Given the description of an element on the screen output the (x, y) to click on. 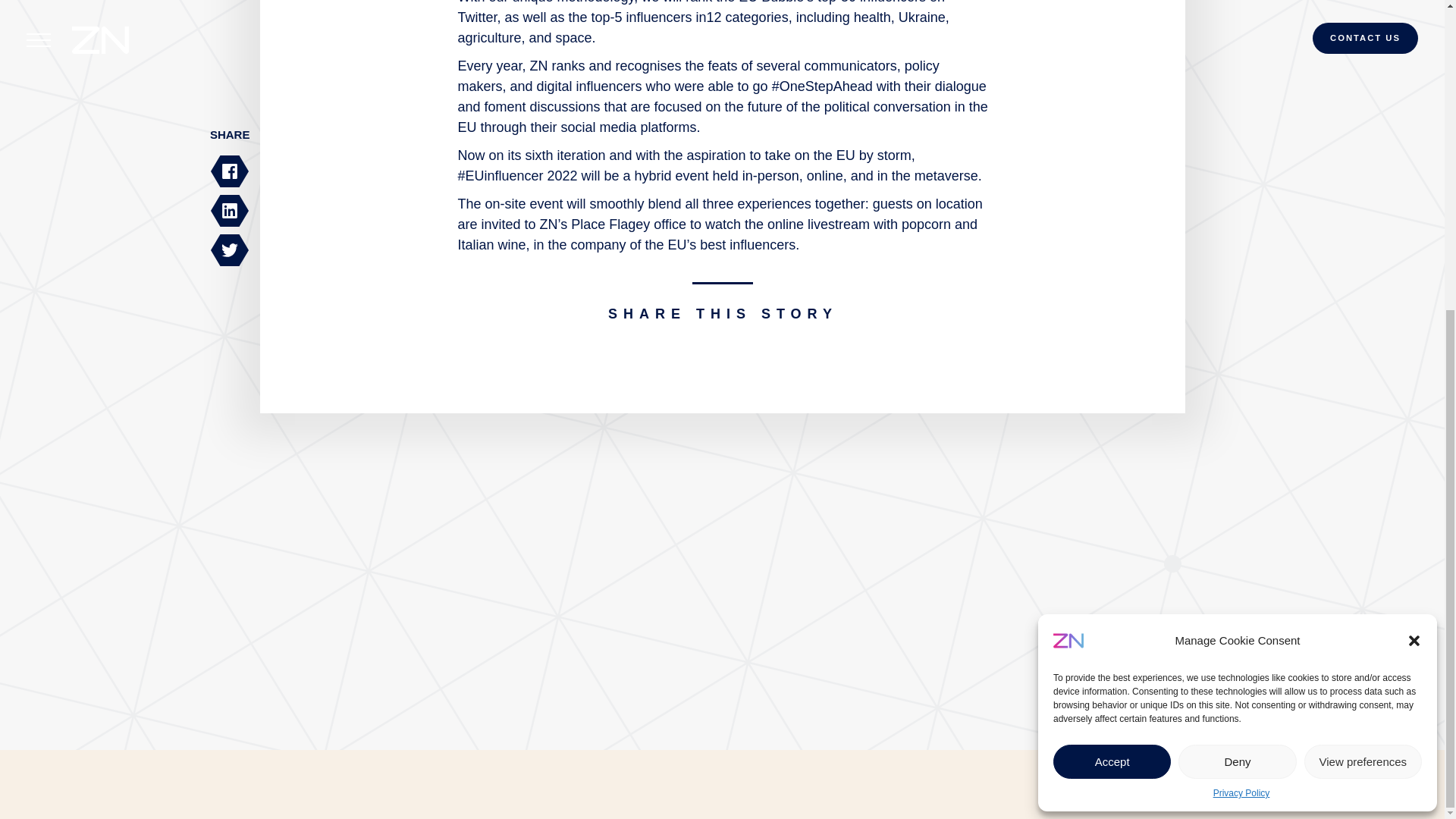
Deny (1236, 270)
View preferences (1363, 270)
Privacy Policy (1240, 301)
Accept (1111, 270)
